Given the description of an element on the screen output the (x, y) to click on. 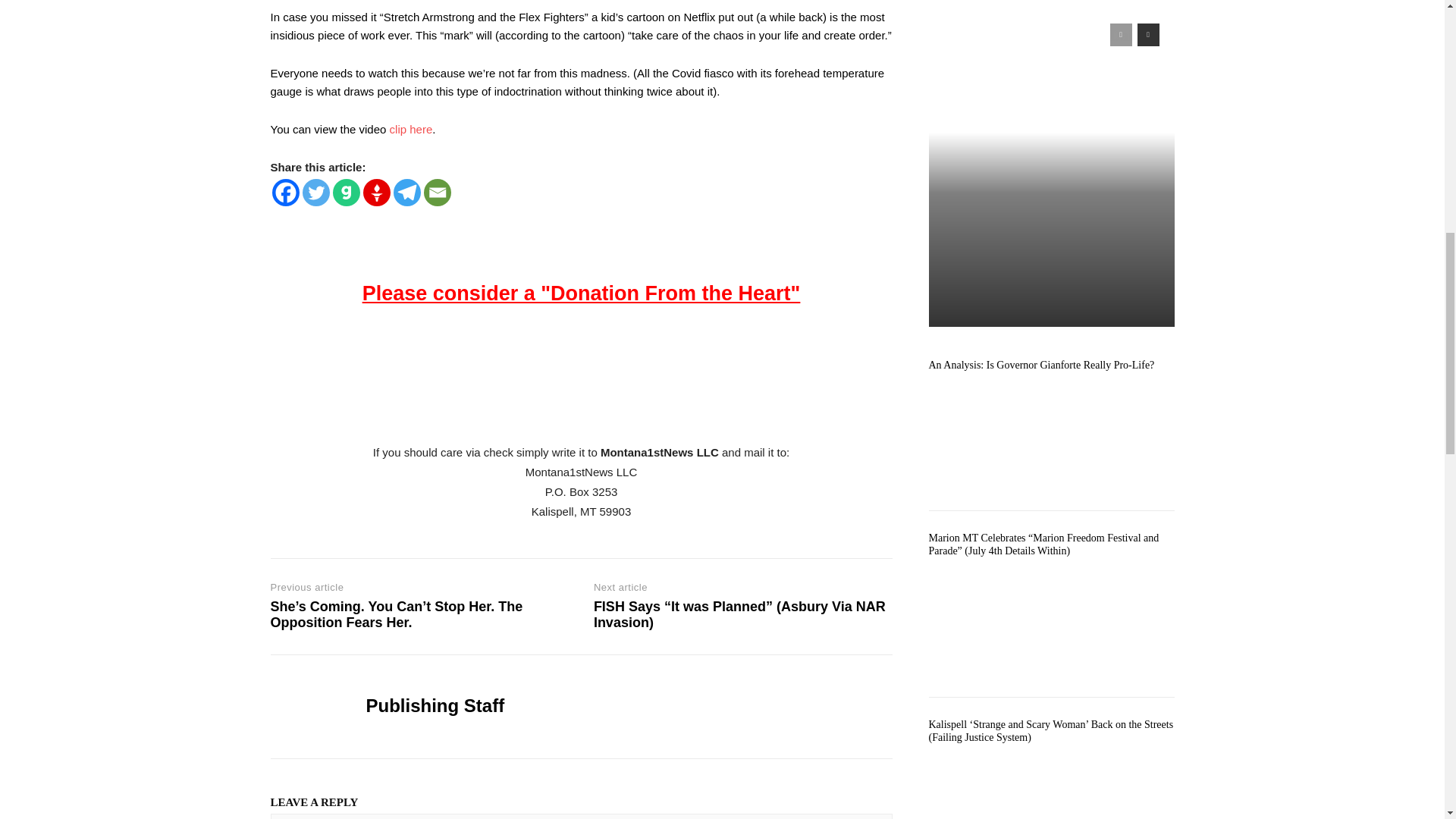
Publishing Staff (305, 706)
Facebook (284, 192)
Twitter (315, 192)
Telegram (406, 192)
Gab (345, 192)
Email (436, 192)
Gettr (376, 192)
